Given the description of an element on the screen output the (x, y) to click on. 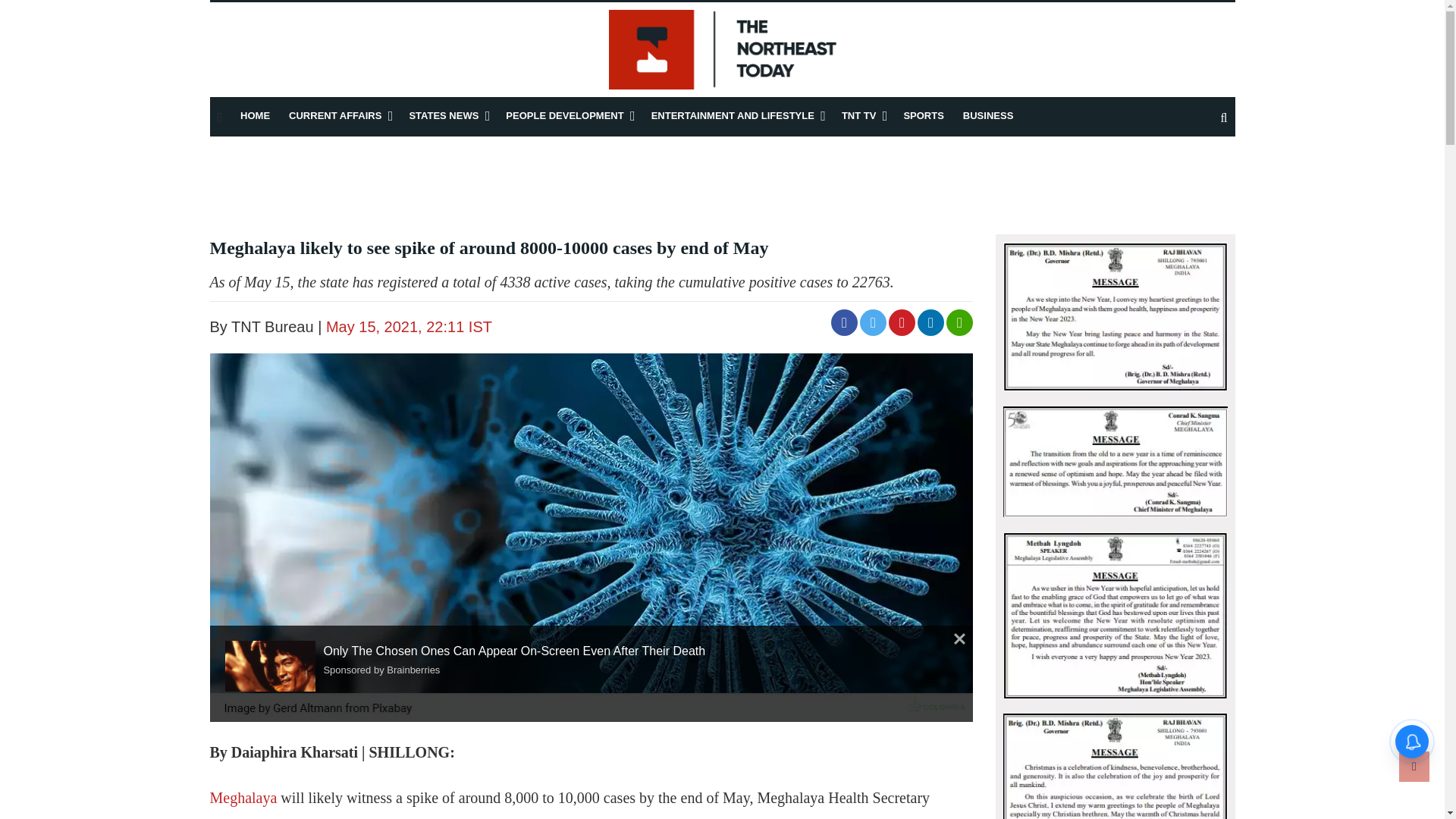
PEOPLE DEVELOPMENT (564, 115)
CURRENT AFFAIRS (334, 115)
SPORTS (922, 115)
HOME (254, 115)
BUSINESS (987, 115)
3rd party ad content (176, 752)
ENTERTAINMENT AND LIFESTYLE (731, 115)
STATES NEWS (444, 115)
TNT TV (858, 115)
3rd party ad content (721, 185)
